Given the description of an element on the screen output the (x, y) to click on. 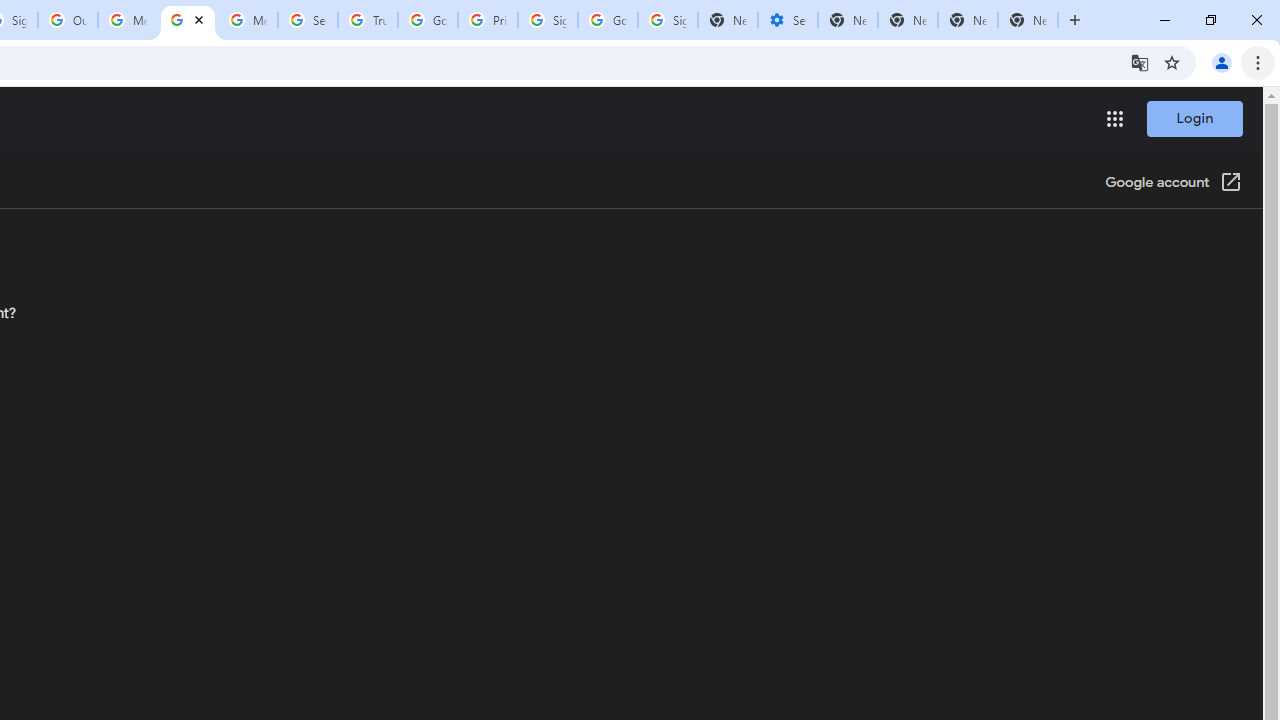
Google Cybersecurity Innovations - Google Safety Center (607, 20)
Search our Doodle Library Collection - Google Doodles (307, 20)
Google Account (Opens in new window) (1173, 183)
Trusted Information and Content - Google Safety Center (367, 20)
Translate this page (1139, 62)
Sign in - Google Accounts (548, 20)
Turn cookies on or off - Computer - Google Account Help (187, 20)
